Given the description of an element on the screen output the (x, y) to click on. 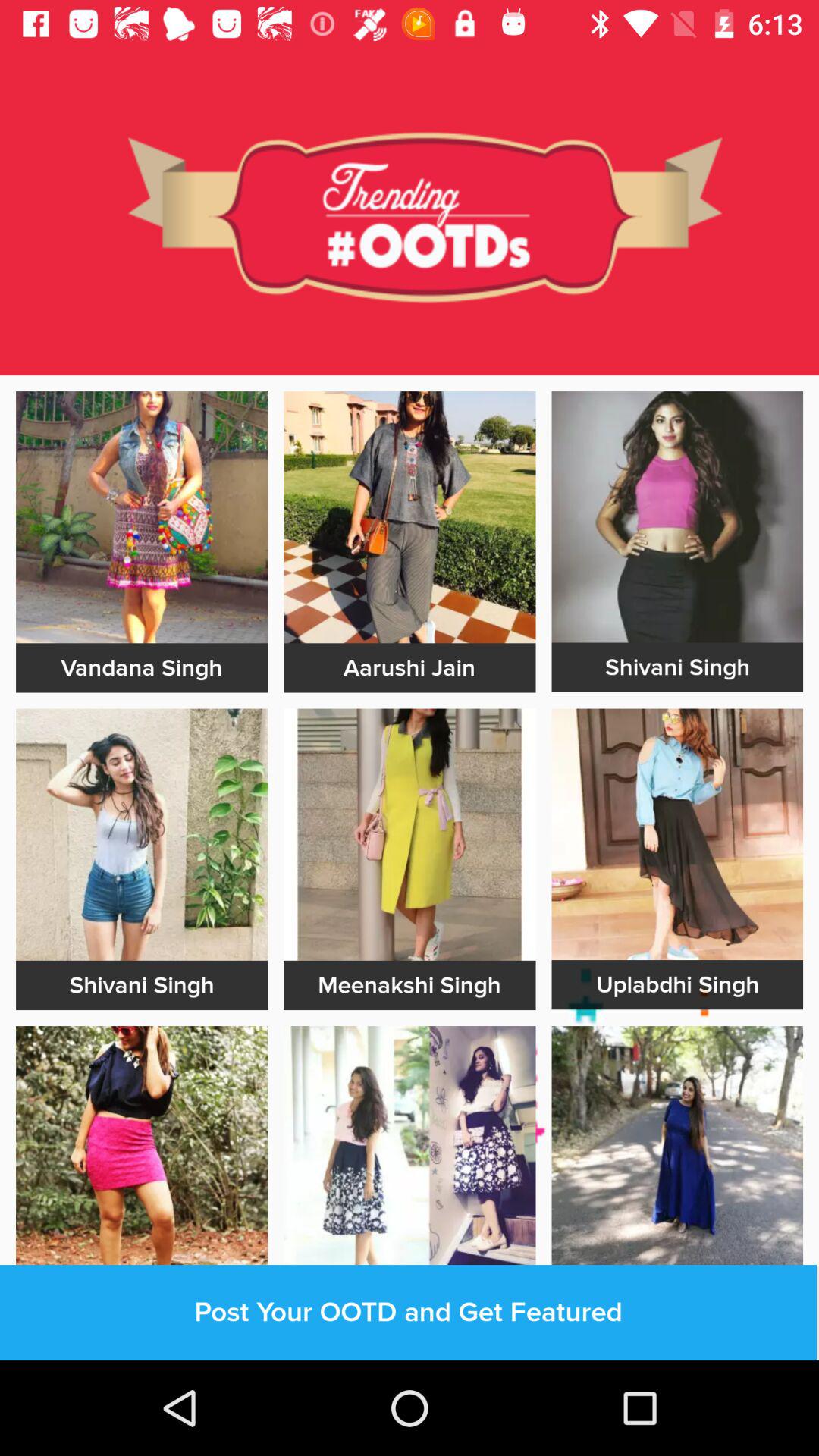
photo (141, 1151)
